Given the description of an element on the screen output the (x, y) to click on. 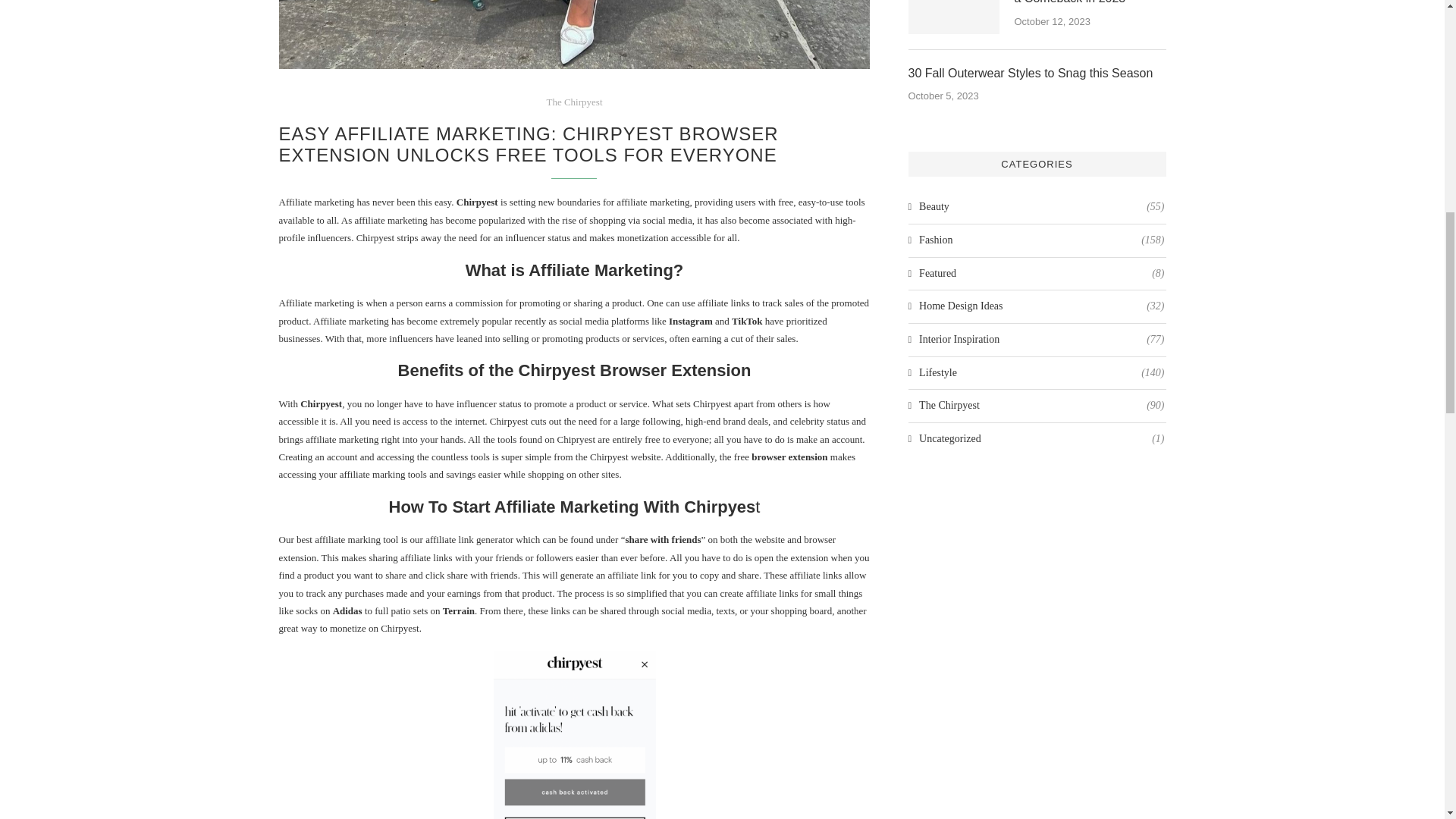
Chirpyest (477, 202)
Mirrored Walls Are Making a Comeback in 2023 (953, 17)
Chirpyest (320, 403)
Instagram (690, 320)
TikTok (747, 320)
The Chirpyest (574, 102)
Adidas (347, 610)
browser extension (789, 456)
share with friends (662, 539)
Chirpyest website (625, 456)
30 Fall Outerwear Styles to Snag this Season (1037, 73)
Terrain (458, 610)
Mirrored Walls Are Making a Comeback in 2023 (1090, 3)
